Given the description of an element on the screen output the (x, y) to click on. 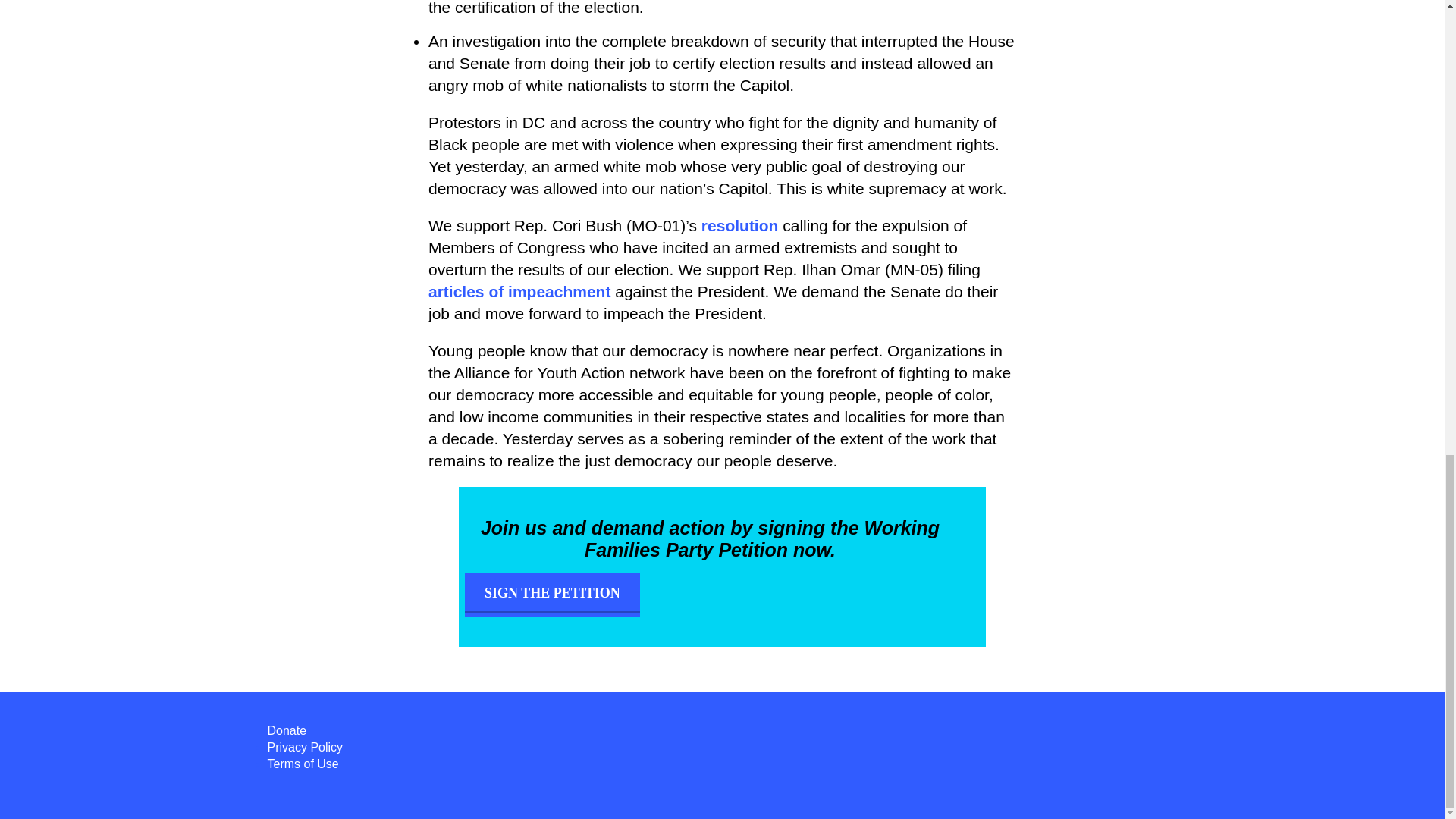
resolution (739, 227)
articles of impeachment (703, 303)
Privacy Policy (304, 748)
Donate (285, 731)
SIGN THE PETITION (552, 594)
Terms of Use (301, 765)
